Given the description of an element on the screen output the (x, y) to click on. 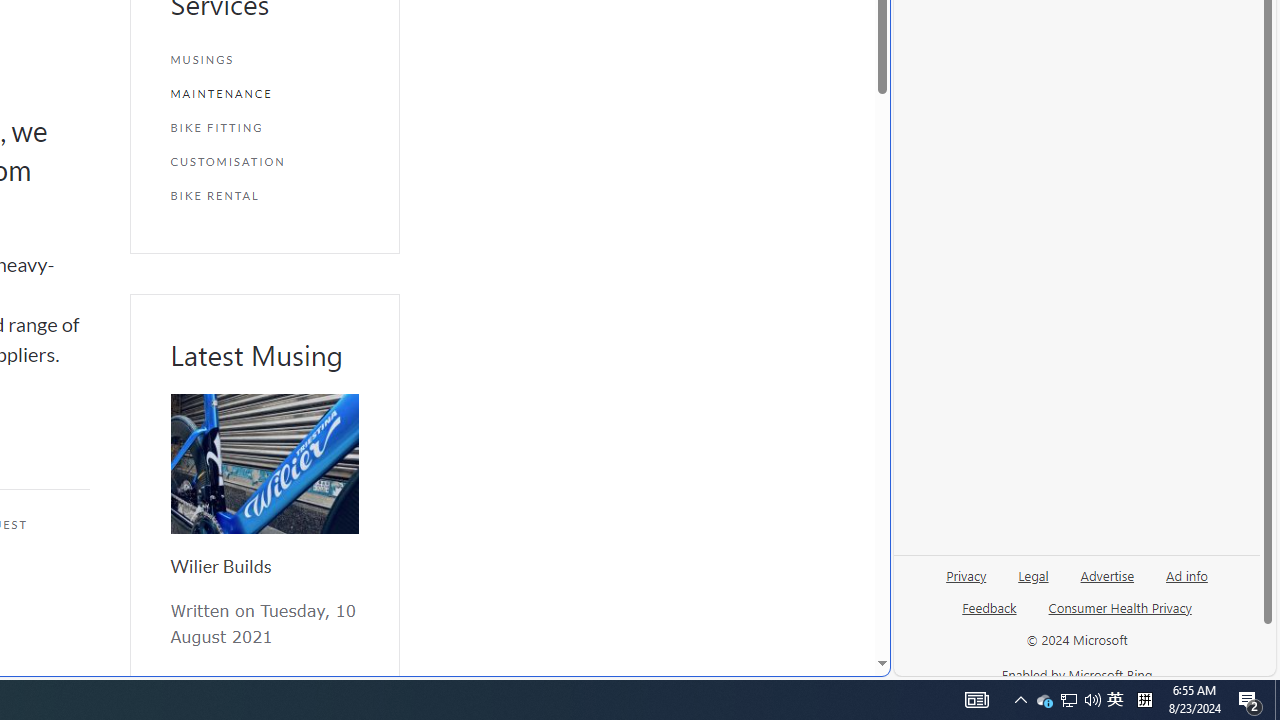
Consumer Health Privacy (1119, 607)
Privacy (966, 583)
CUSTOMISATION (264, 161)
MAINTENANCE (264, 93)
MSN (687, 223)
Ad info (1186, 583)
Favorites (343, 482)
Feedback (989, 607)
BIKE FITTING (264, 127)
BIKE FITTING (264, 127)
MAINTENANCE (264, 93)
BIKE RENTAL (264, 195)
google_privacy_policy_zh-CN.pdf (687, 482)
